Given the description of an element on the screen output the (x, y) to click on. 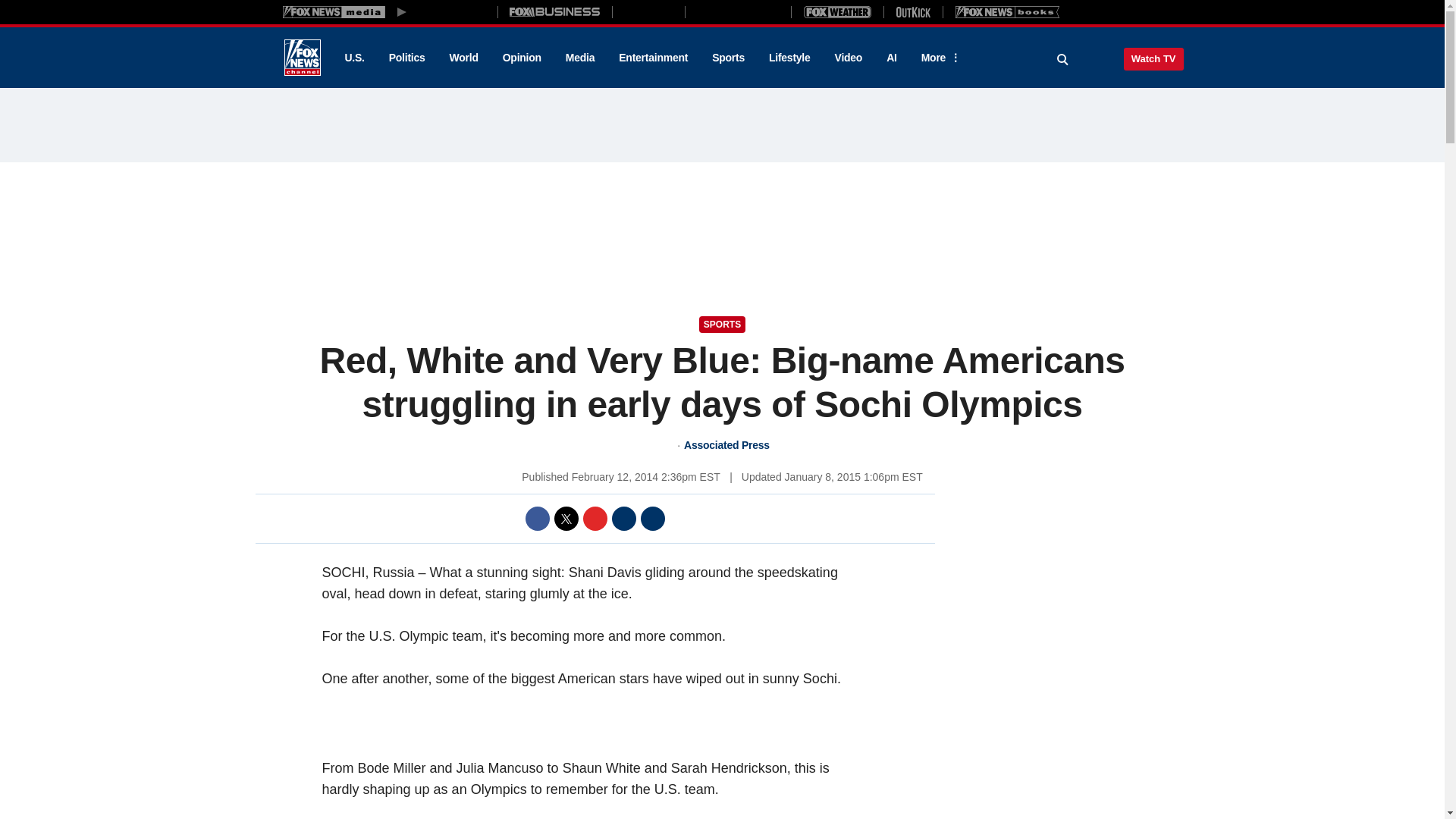
Fox News Audio (737, 11)
Watch TV (1153, 58)
Fox News Media (453, 11)
Media (580, 57)
Sports (728, 57)
Video (848, 57)
Lifestyle (789, 57)
Fox News (301, 57)
World (464, 57)
Entertainment (653, 57)
